Given the description of an element on the screen output the (x, y) to click on. 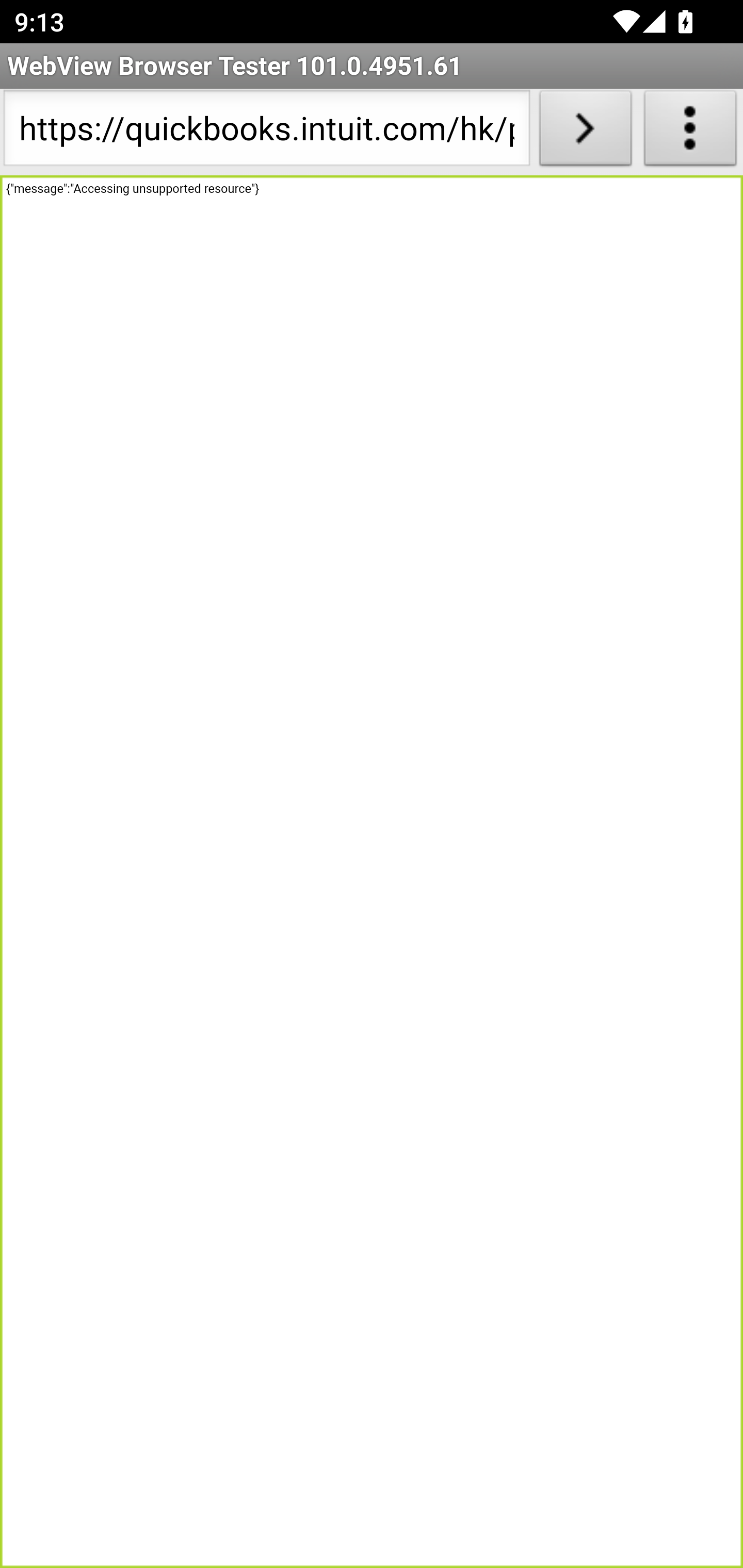
Load URL (585, 132)
About WebView (690, 132)
